Given the description of an element on the screen output the (x, y) to click on. 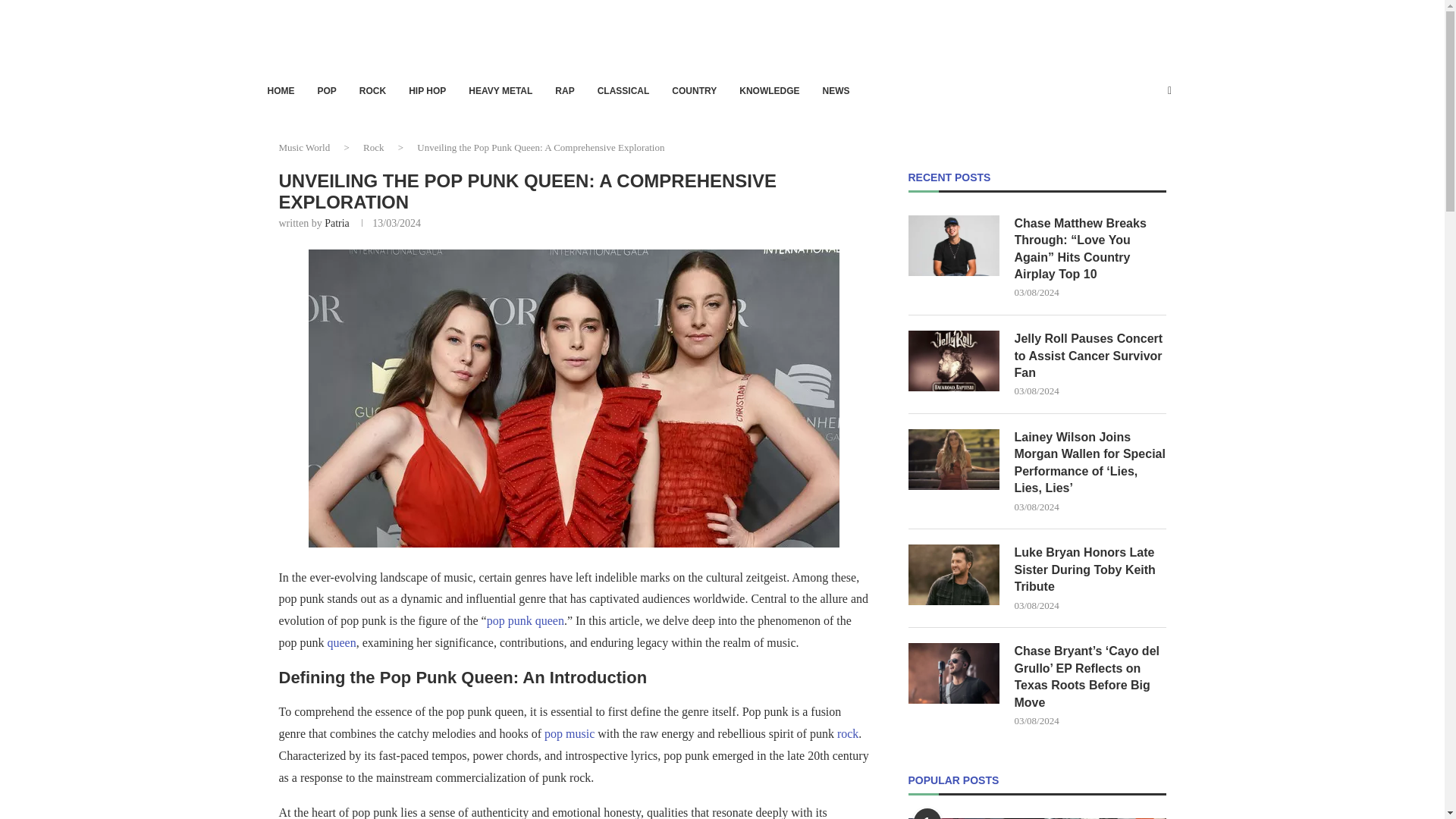
COUNTRY (693, 90)
HEAVY METAL (500, 90)
CLASSICAL (622, 90)
KNOWLEDGE (769, 90)
